Given the description of an element on the screen output the (x, y) to click on. 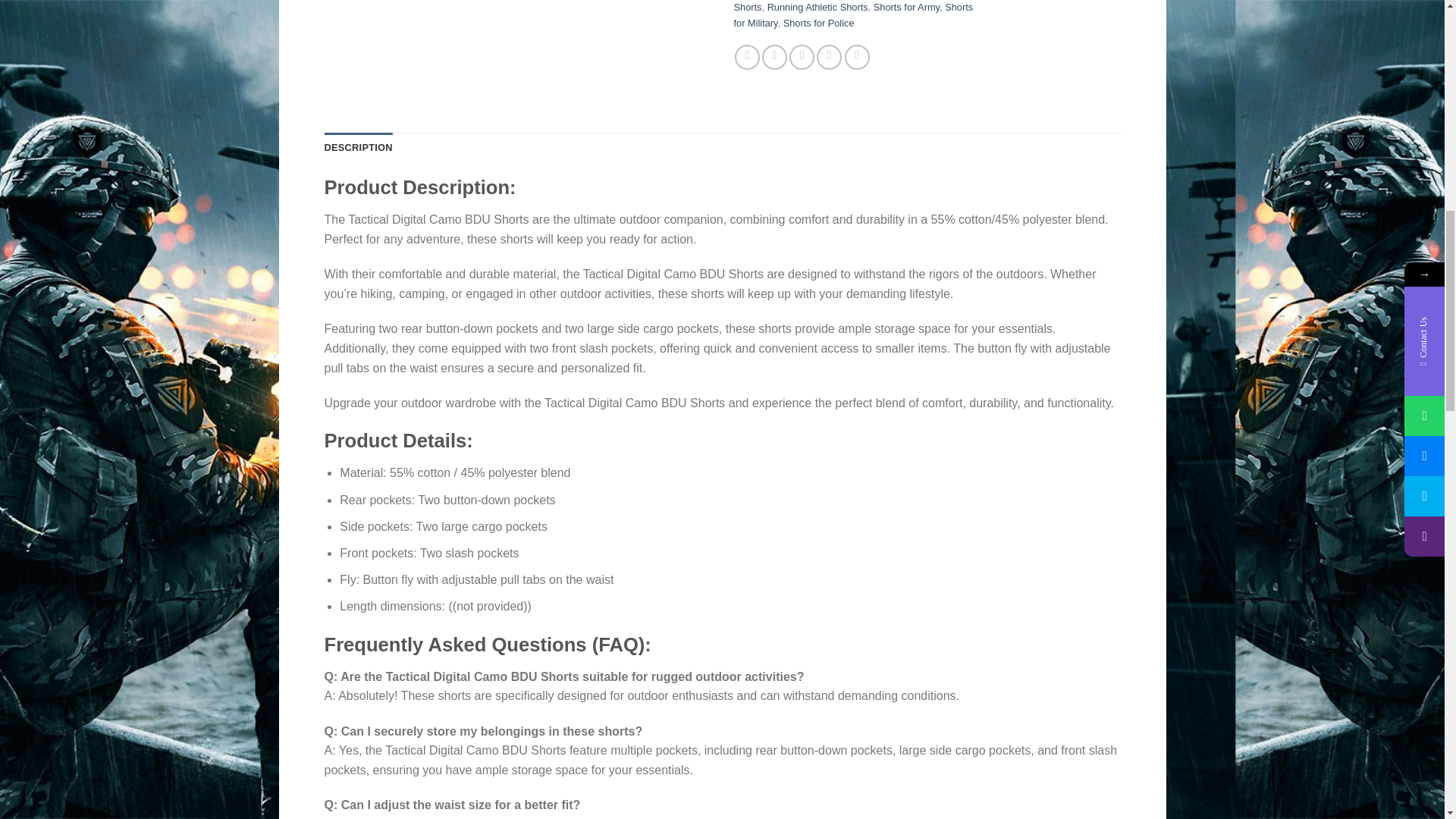
Share on Facebook (747, 57)
